Given the description of an element on the screen output the (x, y) to click on. 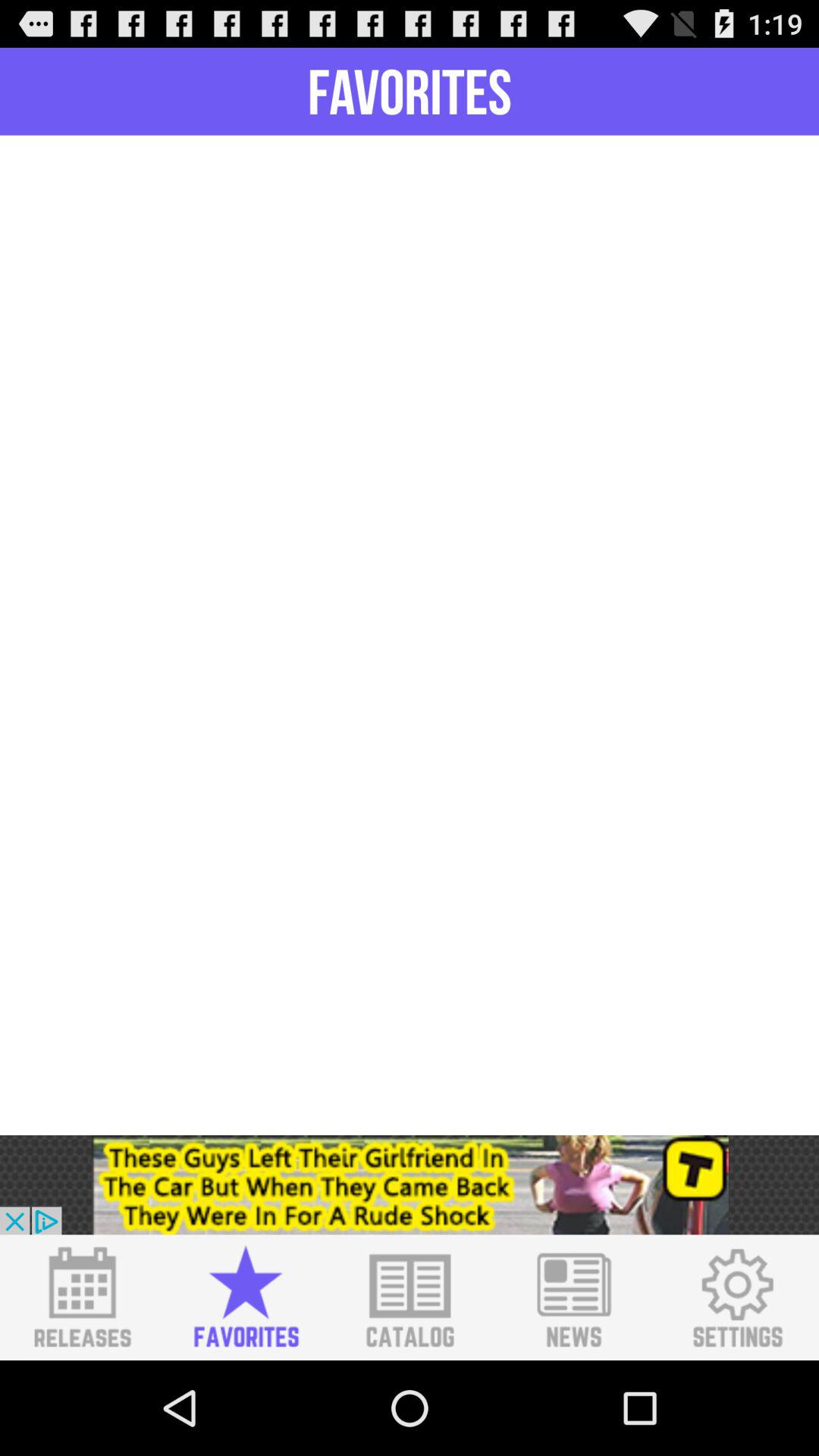
catalog option (409, 1297)
